Given the description of an element on the screen output the (x, y) to click on. 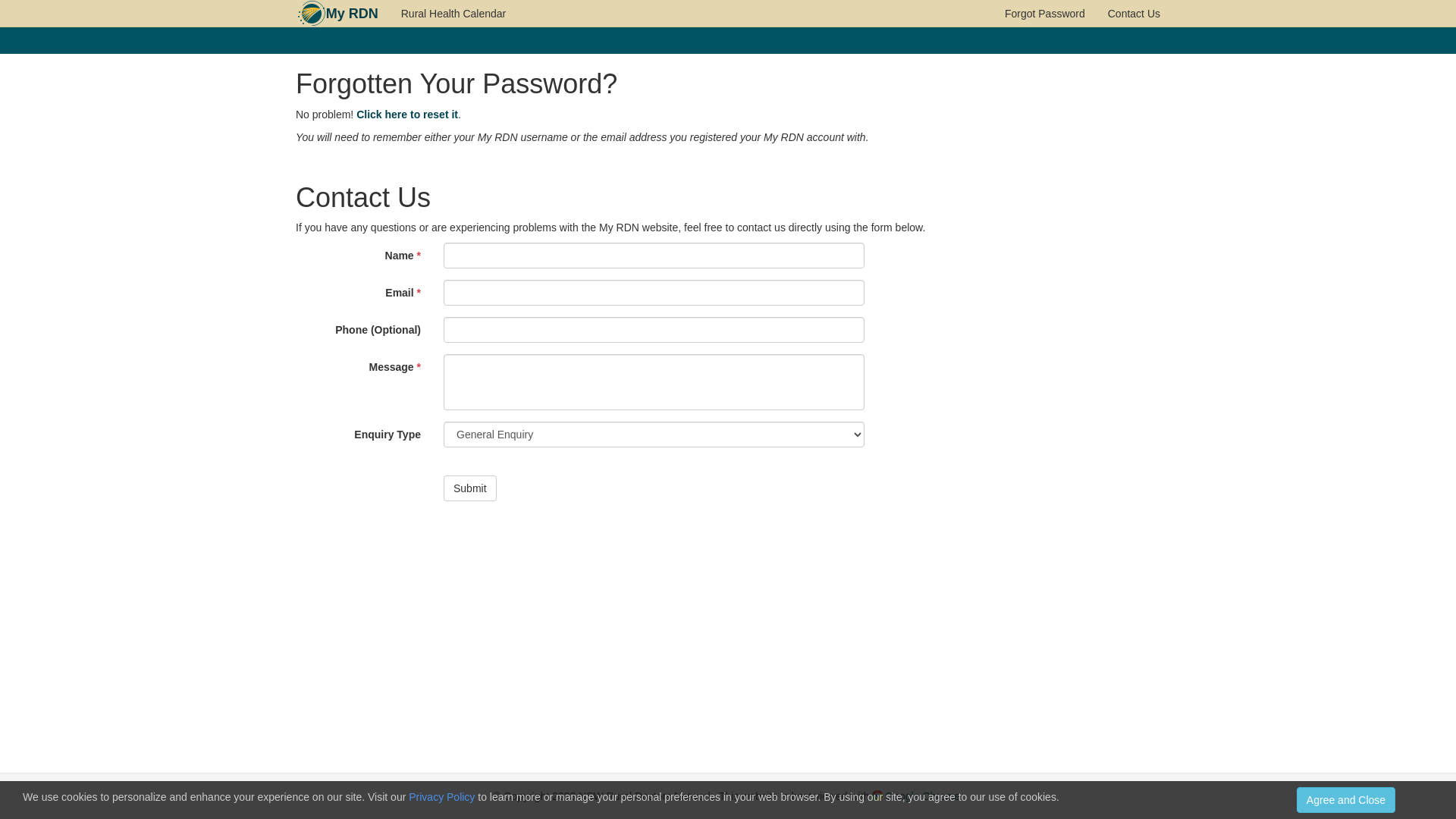
Forgot Password Element type: text (1044, 13)
My RDN Element type: text (351, 13)
Contact Us Element type: text (1133, 13)
Rural Health Calendar Element type: text (453, 13)
Google Chrome. Element type: text (917, 796)
Agree and Close Element type: text (1345, 799)
Privacy Policy Element type: text (441, 796)
Click here to reset it Element type: text (407, 114)
Submit Element type: text (469, 488)
